Given the description of an element on the screen output the (x, y) to click on. 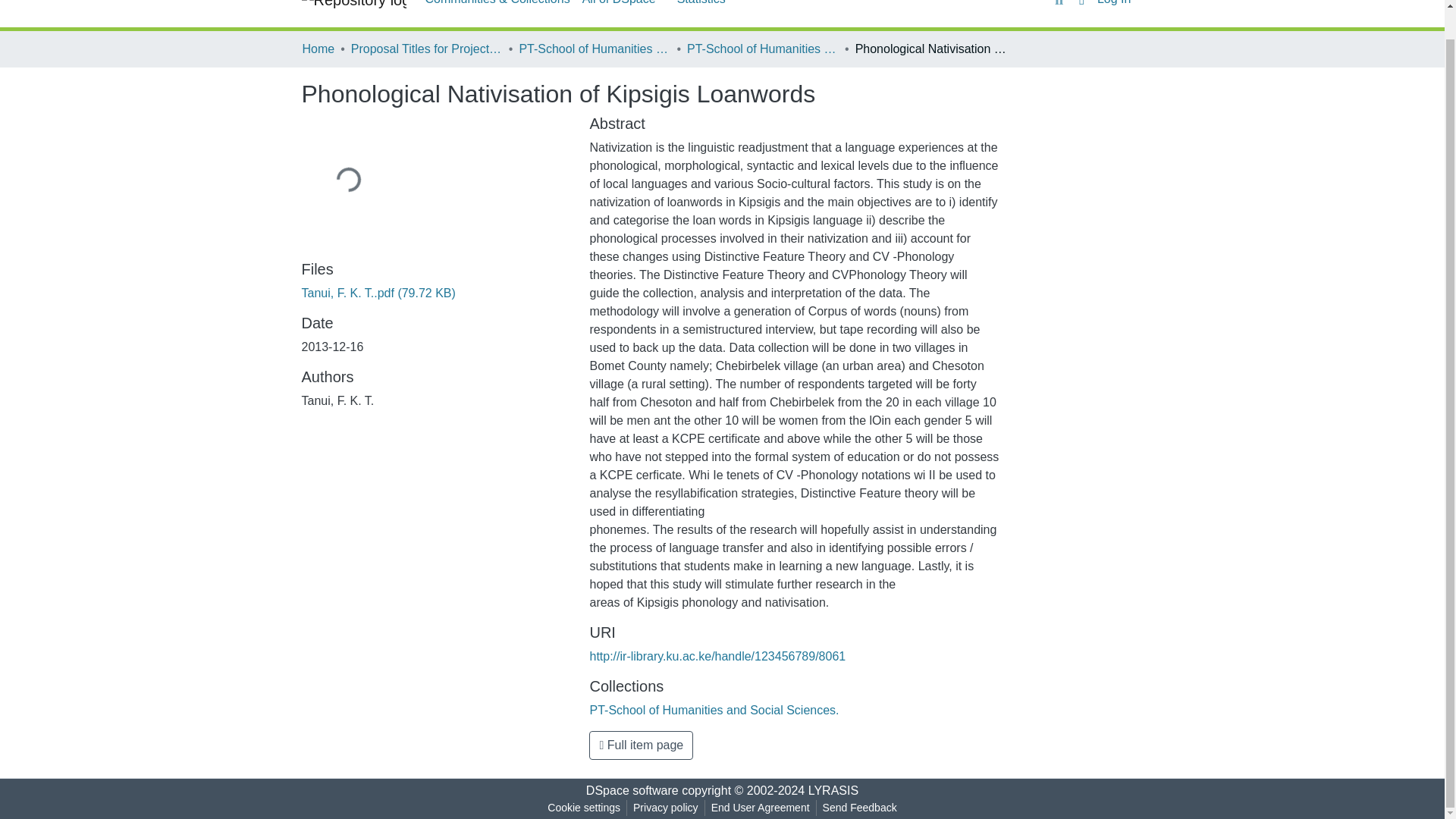
Full item page (641, 745)
Language switch (1081, 4)
Log In (1118, 2)
DSpace software (632, 789)
Statistics (701, 7)
LYRASIS (833, 789)
PT-School of Humanities and Social Sciences. (713, 709)
Privacy policy (665, 807)
PT-School of Humanities and Social Sciences. (762, 49)
All of DSpace (623, 7)
PT-School of Humanities and Social Sciences. (593, 49)
End User Agreement (759, 807)
Statistics (701, 7)
Search (1058, 4)
Cookie settings (583, 807)
